Given the description of an element on the screen output the (x, y) to click on. 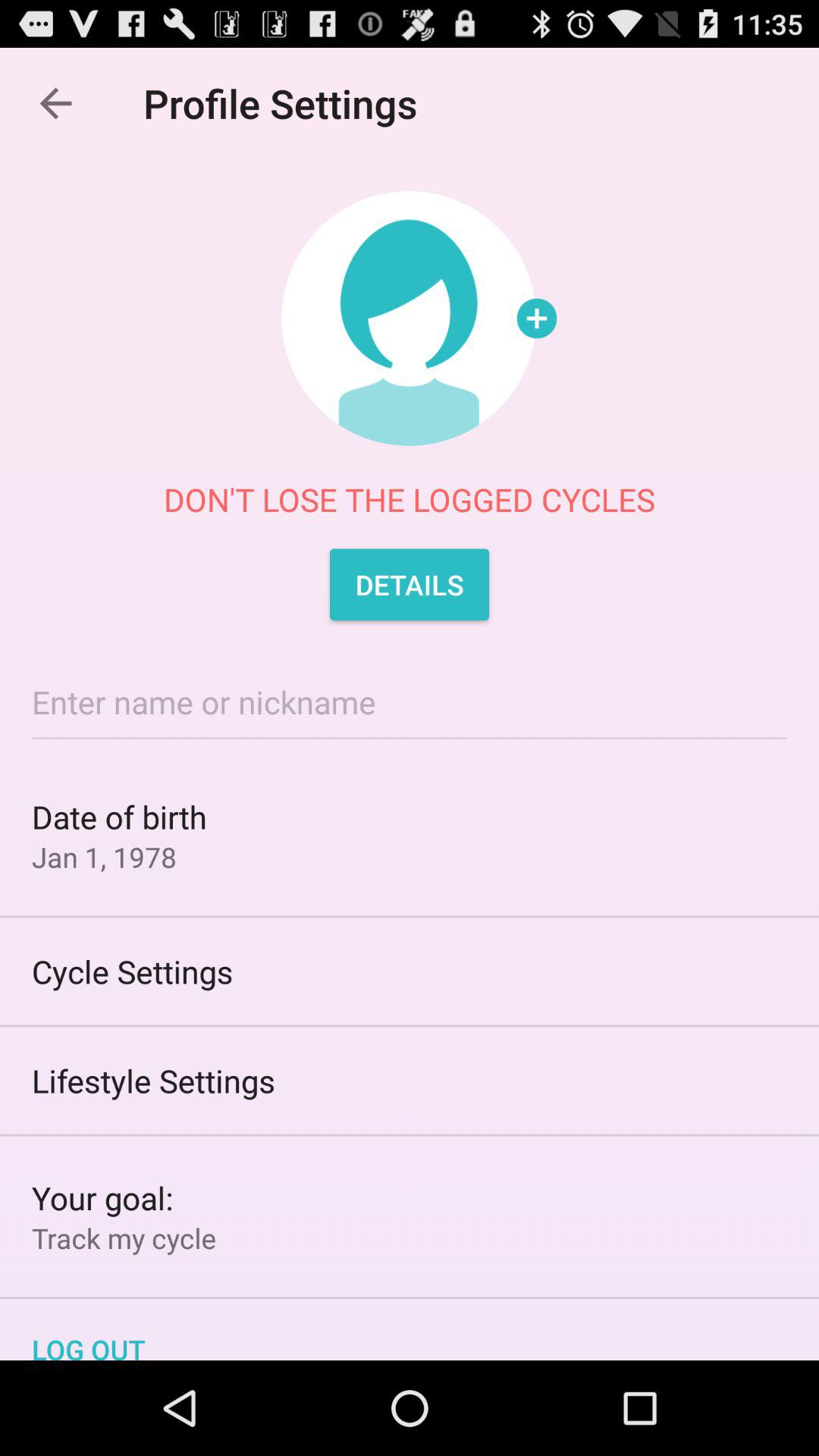
select item above don t lose (55, 103)
